Given the description of an element on the screen output the (x, y) to click on. 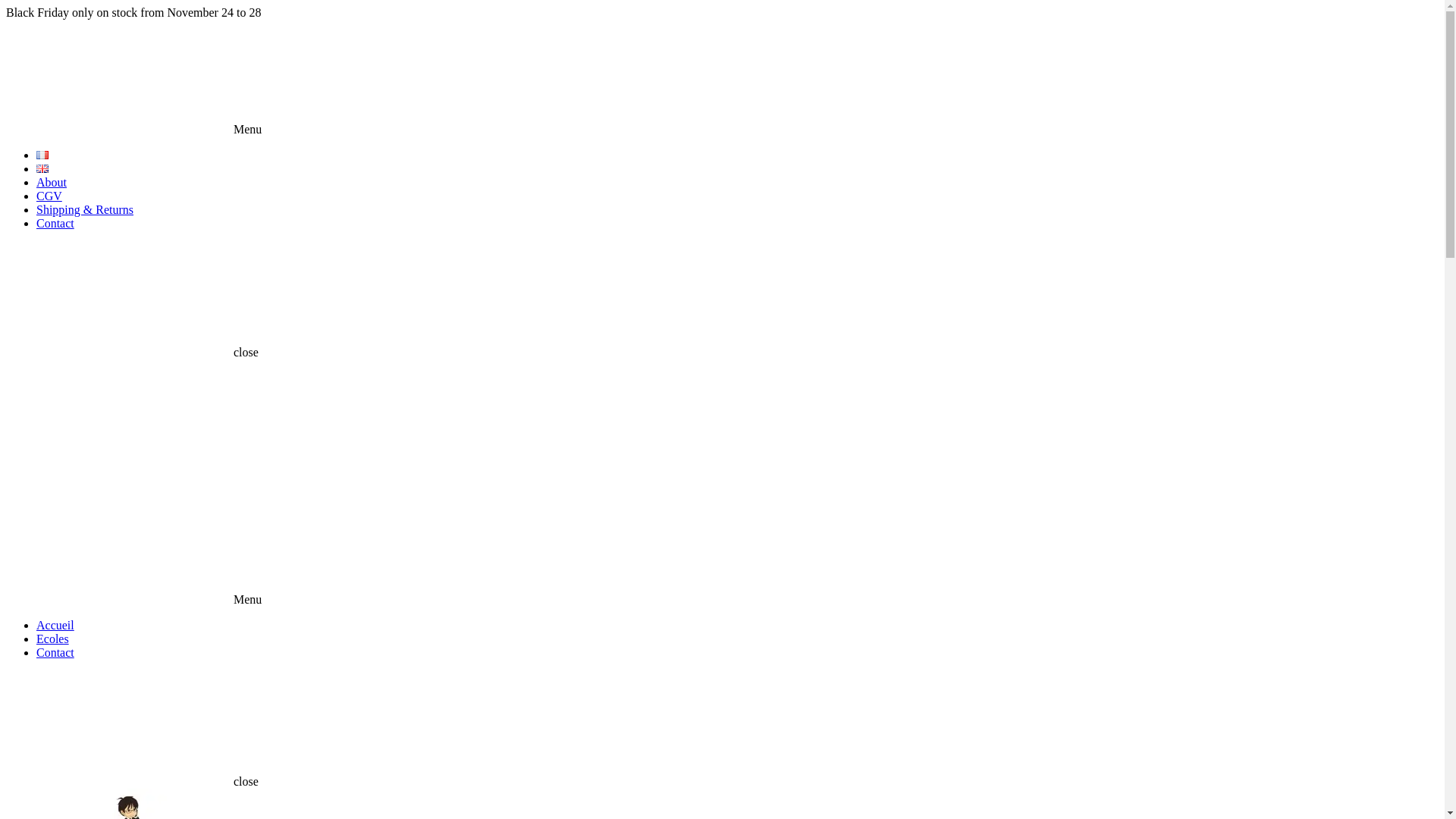
Accueil Element type: text (55, 624)
Shipping & Returns Element type: text (84, 209)
About Element type: text (51, 181)
Contact Element type: text (55, 222)
Ecoles Element type: text (52, 638)
Aller au panier Element type: hover (722, 417)
Contact Element type: text (55, 652)
CGV Element type: text (49, 195)
